Given the description of an element on the screen output the (x, y) to click on. 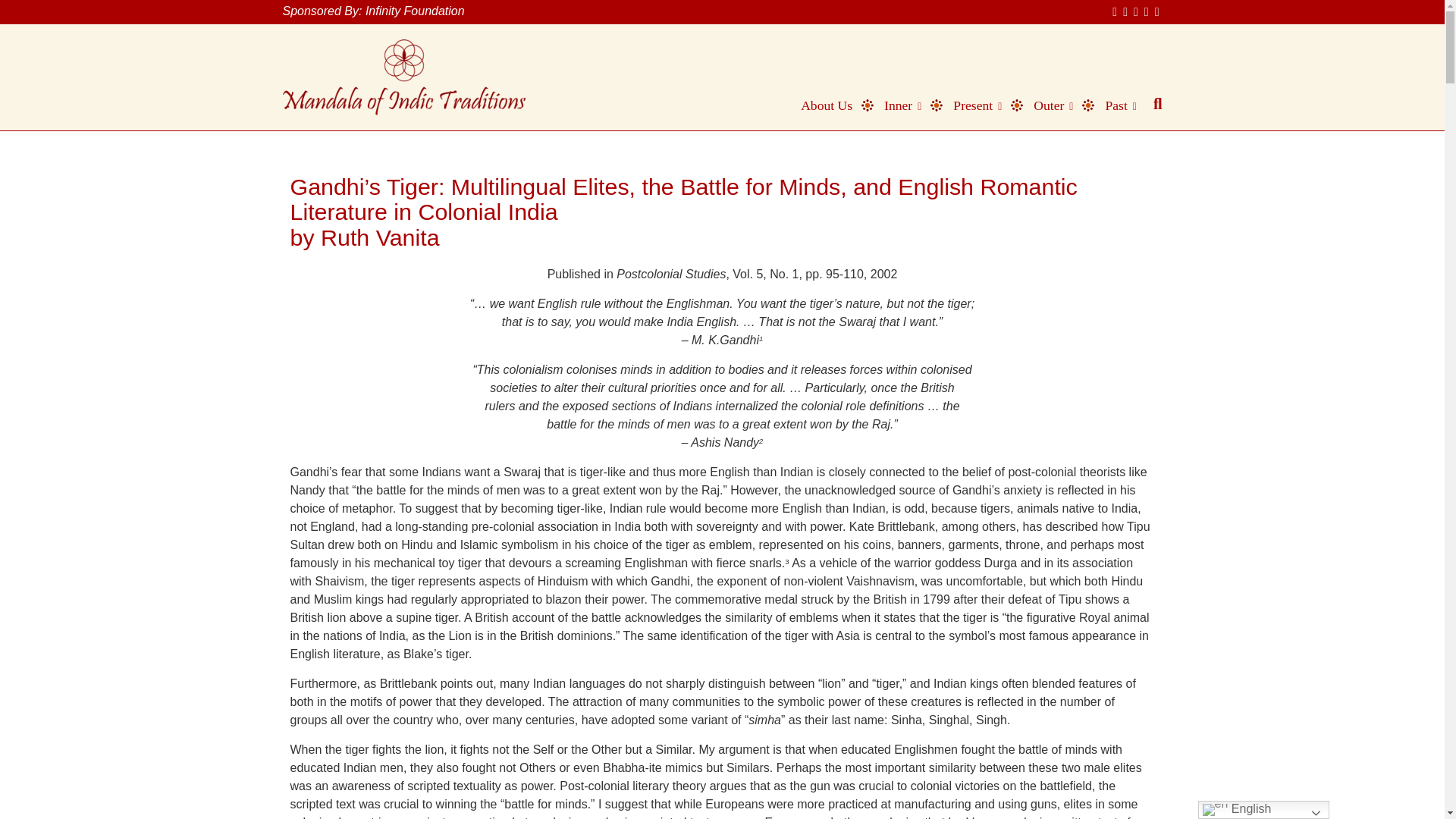
Outer (1045, 104)
About Us (819, 104)
Past (1112, 104)
English (1263, 809)
Present (970, 104)
Indic Mandala (403, 77)
Inner (895, 104)
